Given the description of an element on the screen output the (x, y) to click on. 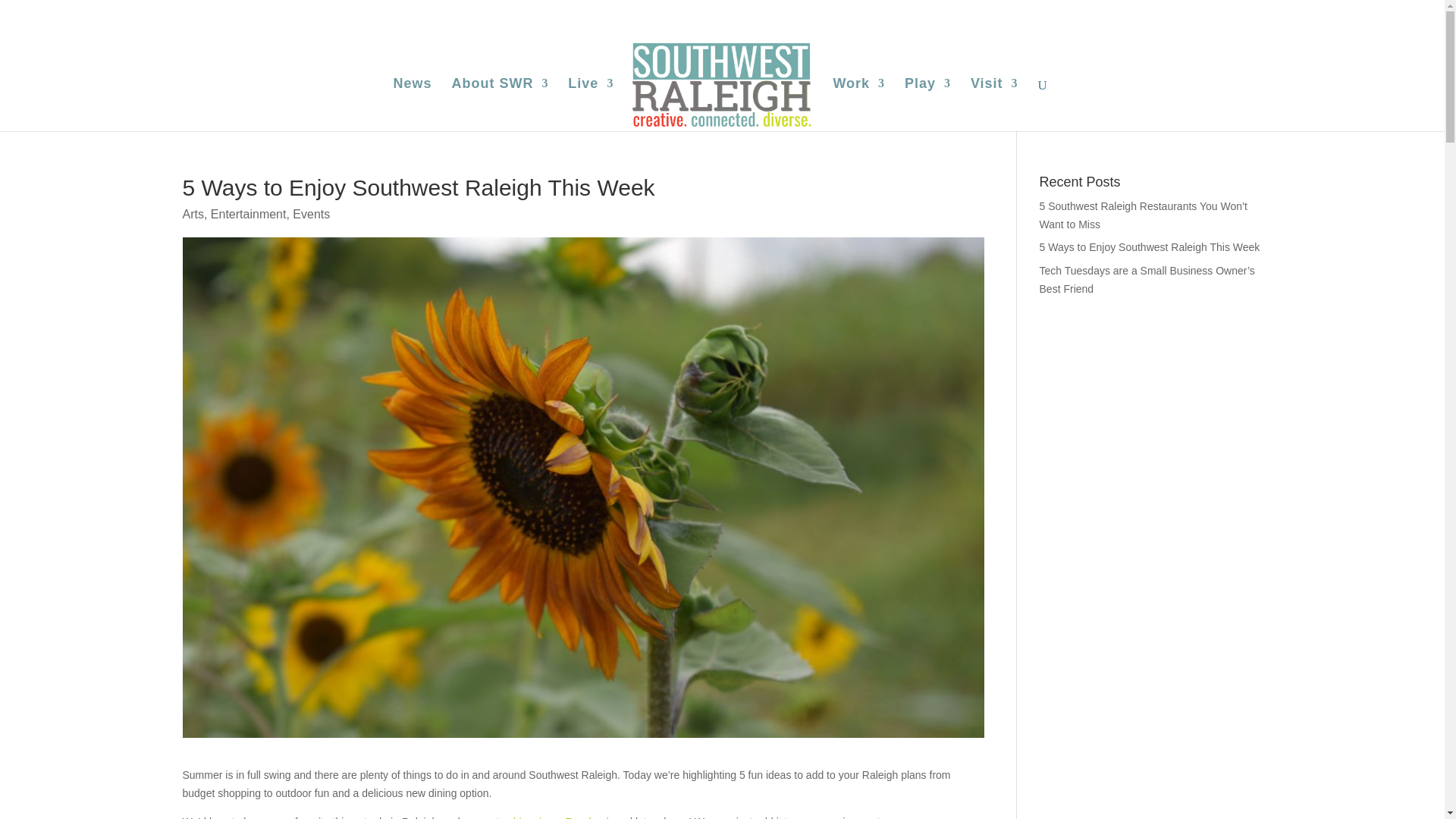
Work (858, 104)
Play (1203, 14)
News (1001, 14)
About SWR (1054, 14)
About SWR (499, 104)
Visit (1246, 14)
Work (1157, 14)
Live (1111, 14)
